Given the description of an element on the screen output the (x, y) to click on. 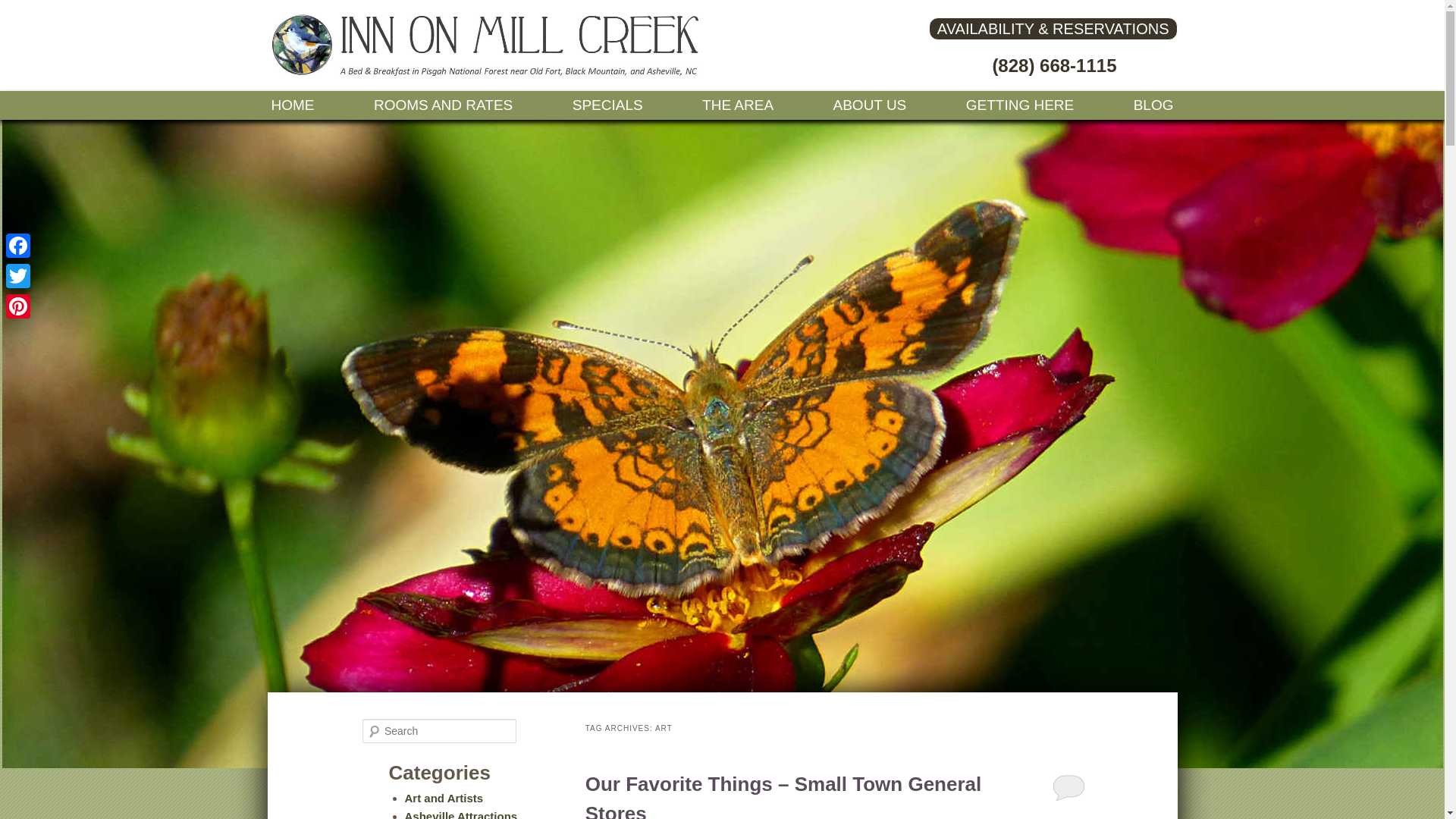
HOME (291, 104)
Inn on Mill Creek (486, 72)
THE AREA (737, 104)
ROOMS AND RATES (442, 104)
SPECIALS (607, 104)
GETTING HERE (1020, 104)
BLOG (1153, 104)
ABOUT US (870, 104)
